Given the description of an element on the screen output the (x, y) to click on. 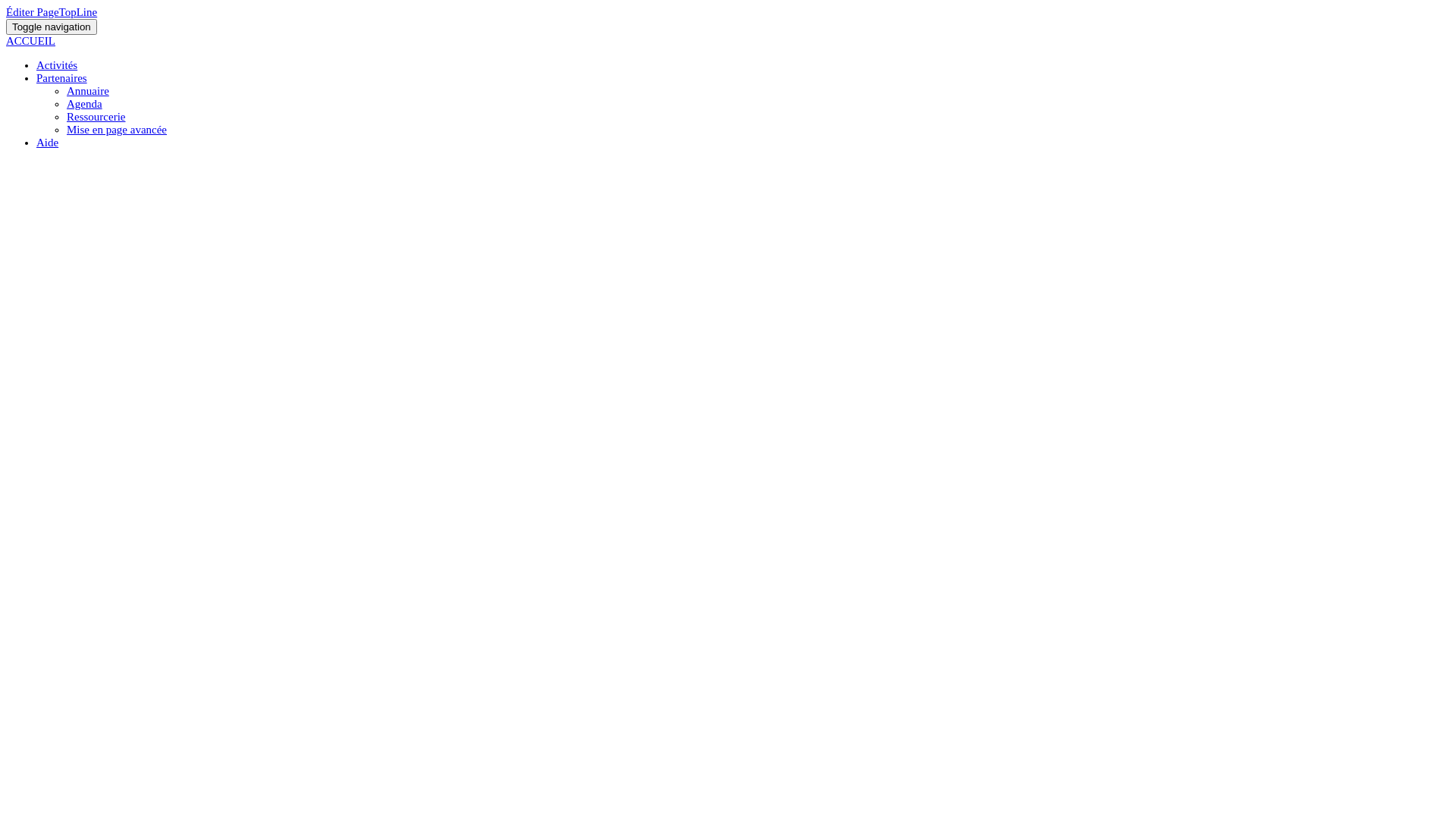
ACCUEIL Element type: text (727, 48)
Partenaires Element type: text (61, 78)
Ressourcerie Element type: text (95, 116)
Toggle navigation Element type: text (51, 26)
Aide Element type: text (47, 142)
Annuaire Element type: text (87, 90)
Agenda Element type: text (84, 103)
